Given the description of an element on the screen output the (x, y) to click on. 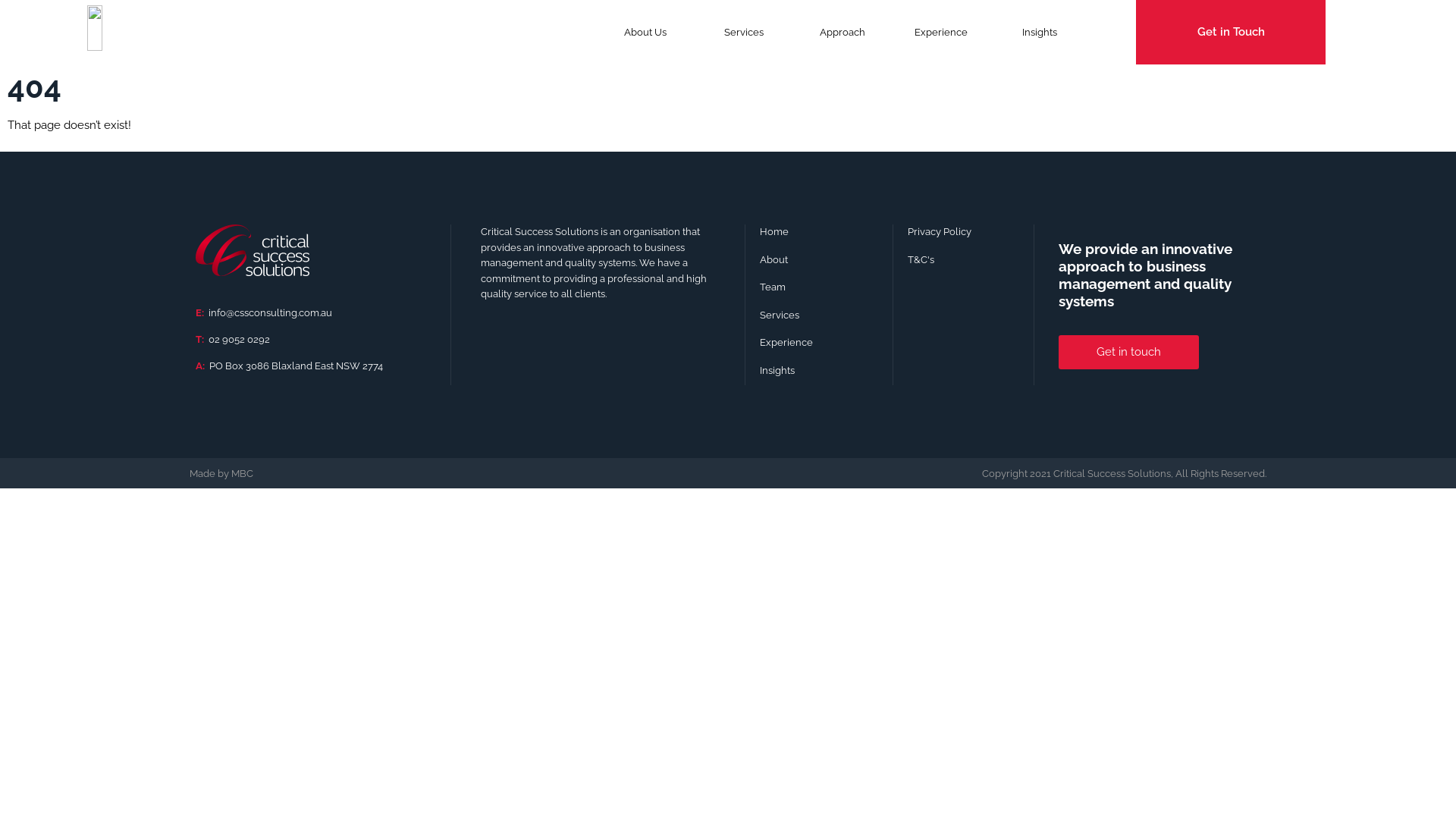
Experience Element type: text (940, 31)
Home Element type: text (818, 232)
About Element type: text (818, 260)
Services Element type: text (743, 31)
Privacy Policy Element type: text (963, 232)
Insights Element type: text (1039, 31)
T&C's Element type: text (963, 260)
Approach Element type: text (842, 31)
Experience Element type: text (818, 343)
Insights Element type: text (818, 371)
Services Element type: text (818, 315)
Get in Touch Element type: text (1230, 32)
Get in touch Element type: text (1128, 352)
E:  info@cssconsulting.com.au Element type: text (263, 312)
Team Element type: text (818, 287)
About Us Element type: text (645, 31)
Made by MBC Element type: text (221, 473)
